Given the description of an element on the screen output the (x, y) to click on. 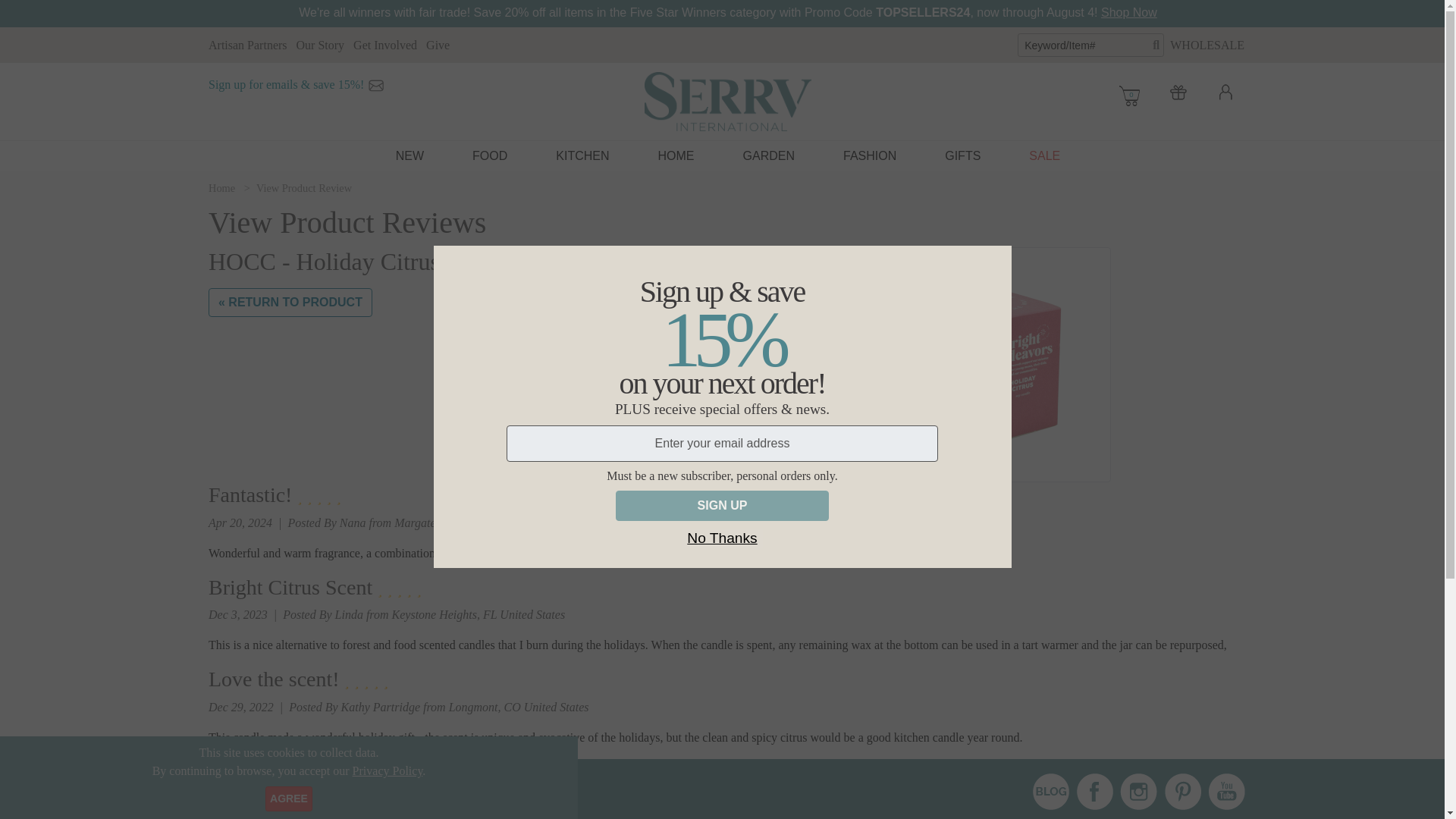
Submit (437, 791)
SIGN UP (721, 505)
Enter your email address (722, 443)
No Thanks (721, 537)
